Given the description of an element on the screen output the (x, y) to click on. 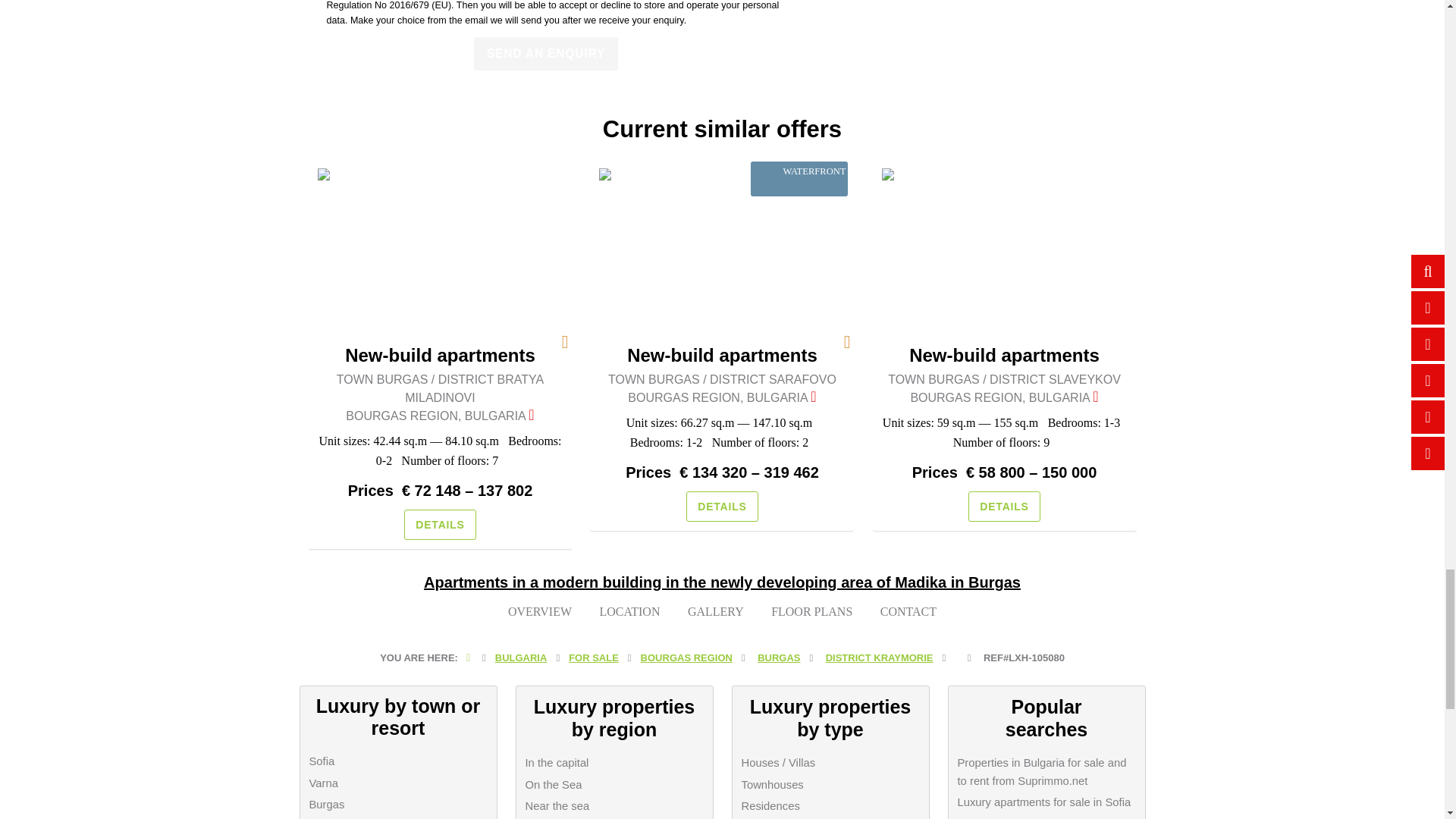
Send an enquiry (545, 53)
